Given the description of an element on the screen output the (x, y) to click on. 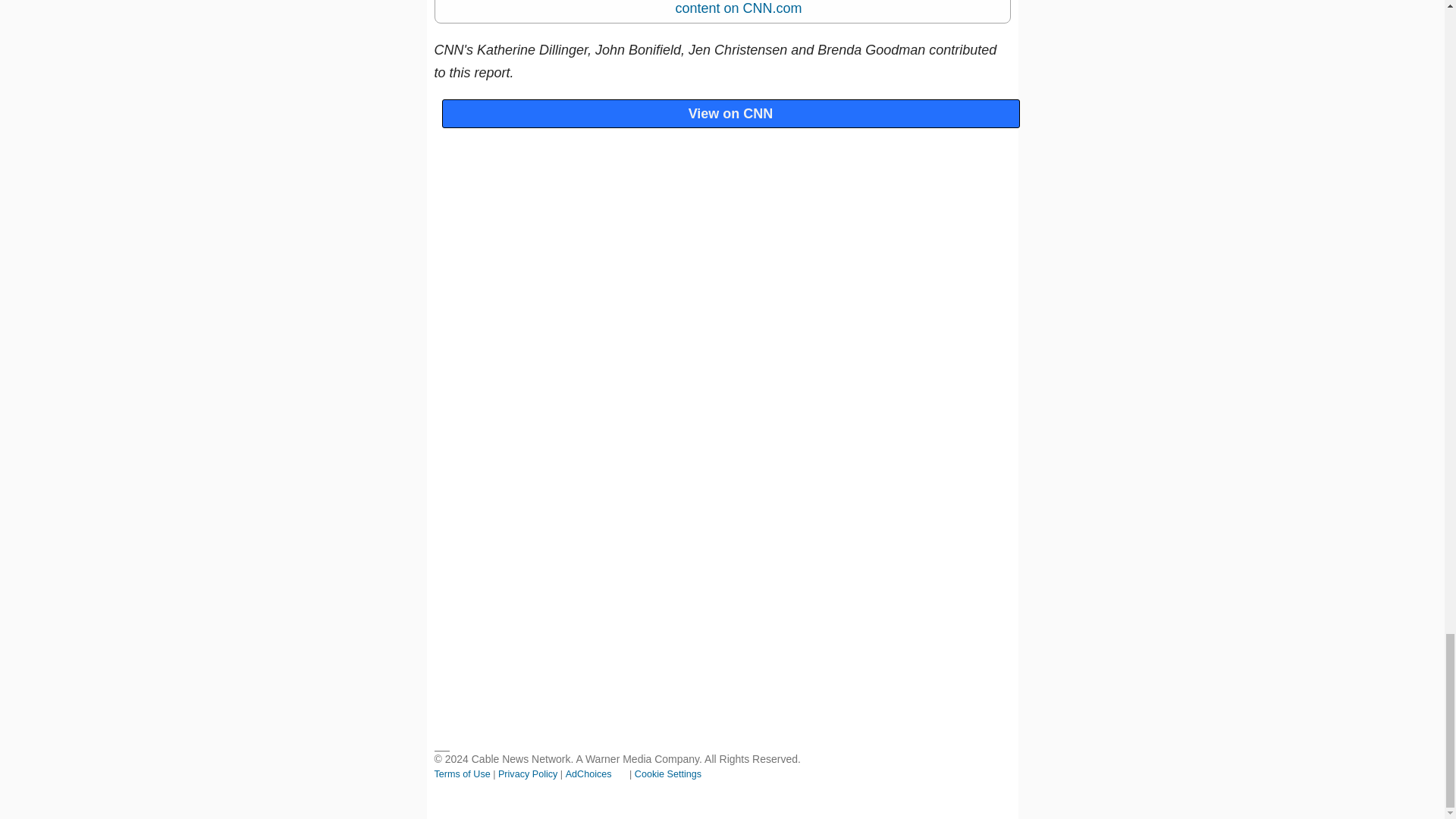
Privacy Policy (527, 774)
View on CNN (730, 113)
View this interactive content on CNN.com (751, 8)
Terms of Use (463, 774)
AdChoices (596, 774)
Cookie Settings (667, 774)
